Given the description of an element on the screen output the (x, y) to click on. 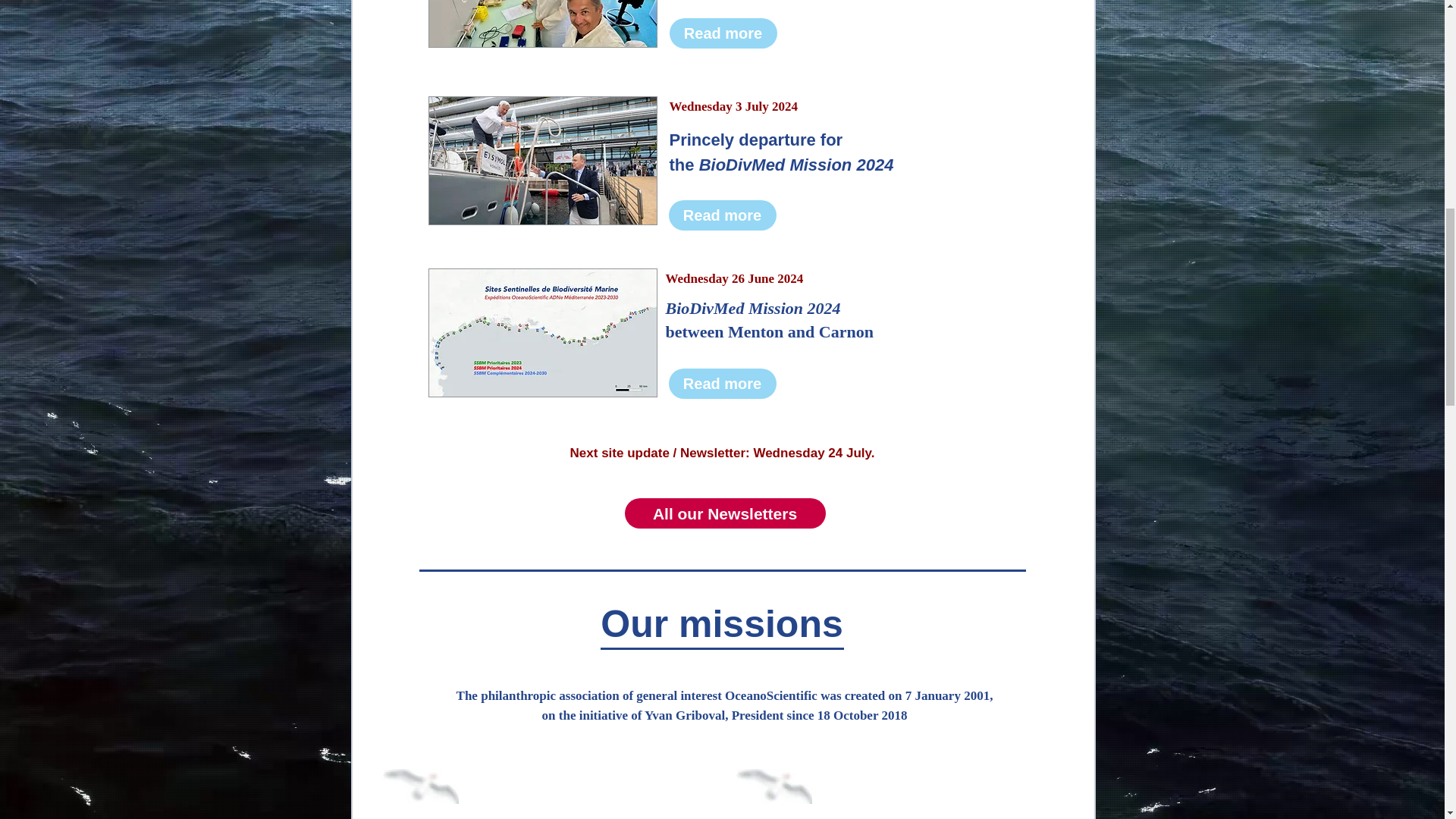
Read more (722, 383)
Read more (722, 33)
Read more (722, 214)
All our Newsletters (724, 512)
